Given the description of an element on the screen output the (x, y) to click on. 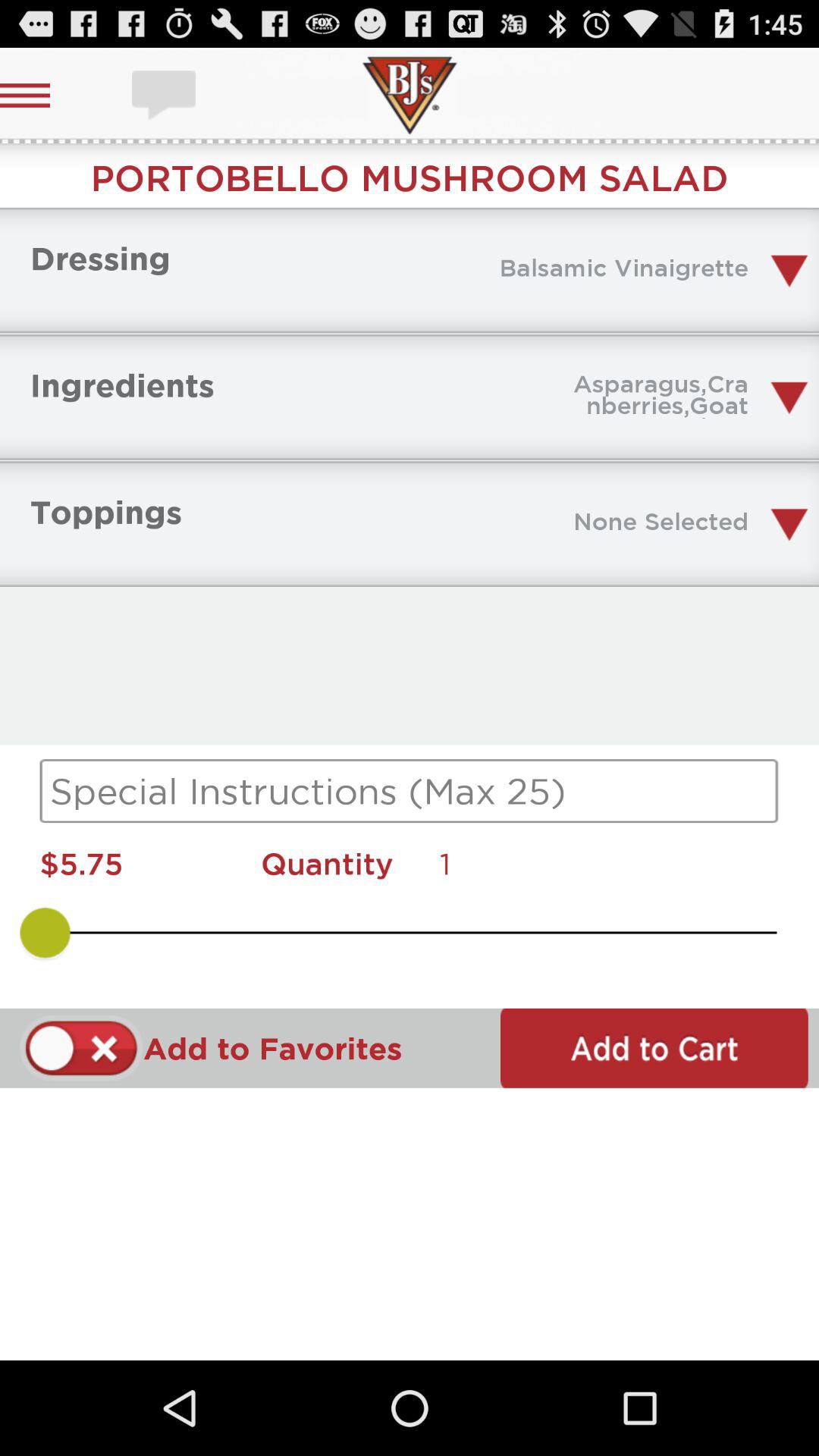
add to cart (654, 1048)
